Given the description of an element on the screen output the (x, y) to click on. 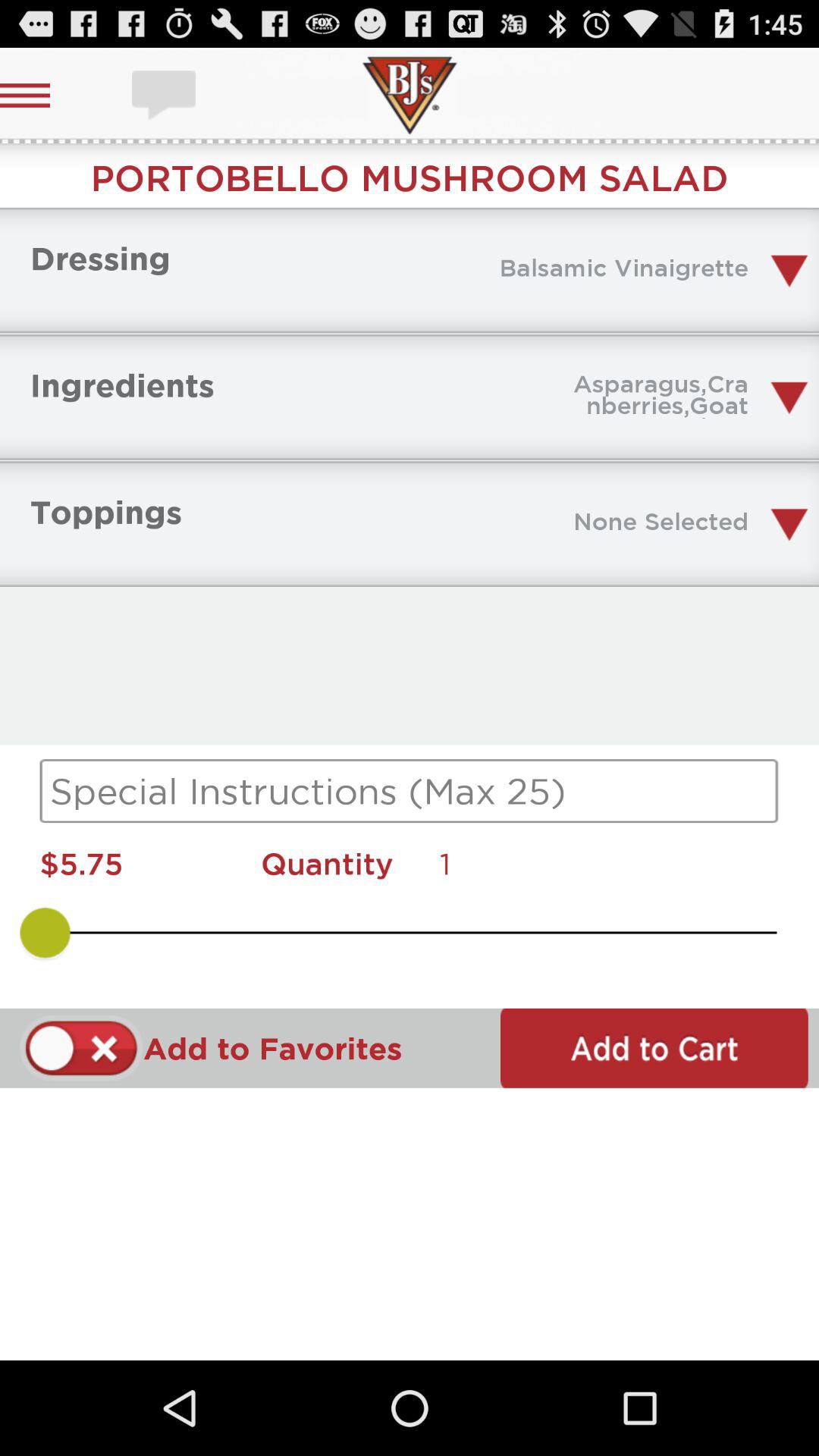
add to cart (654, 1048)
